Given the description of an element on the screen output the (x, y) to click on. 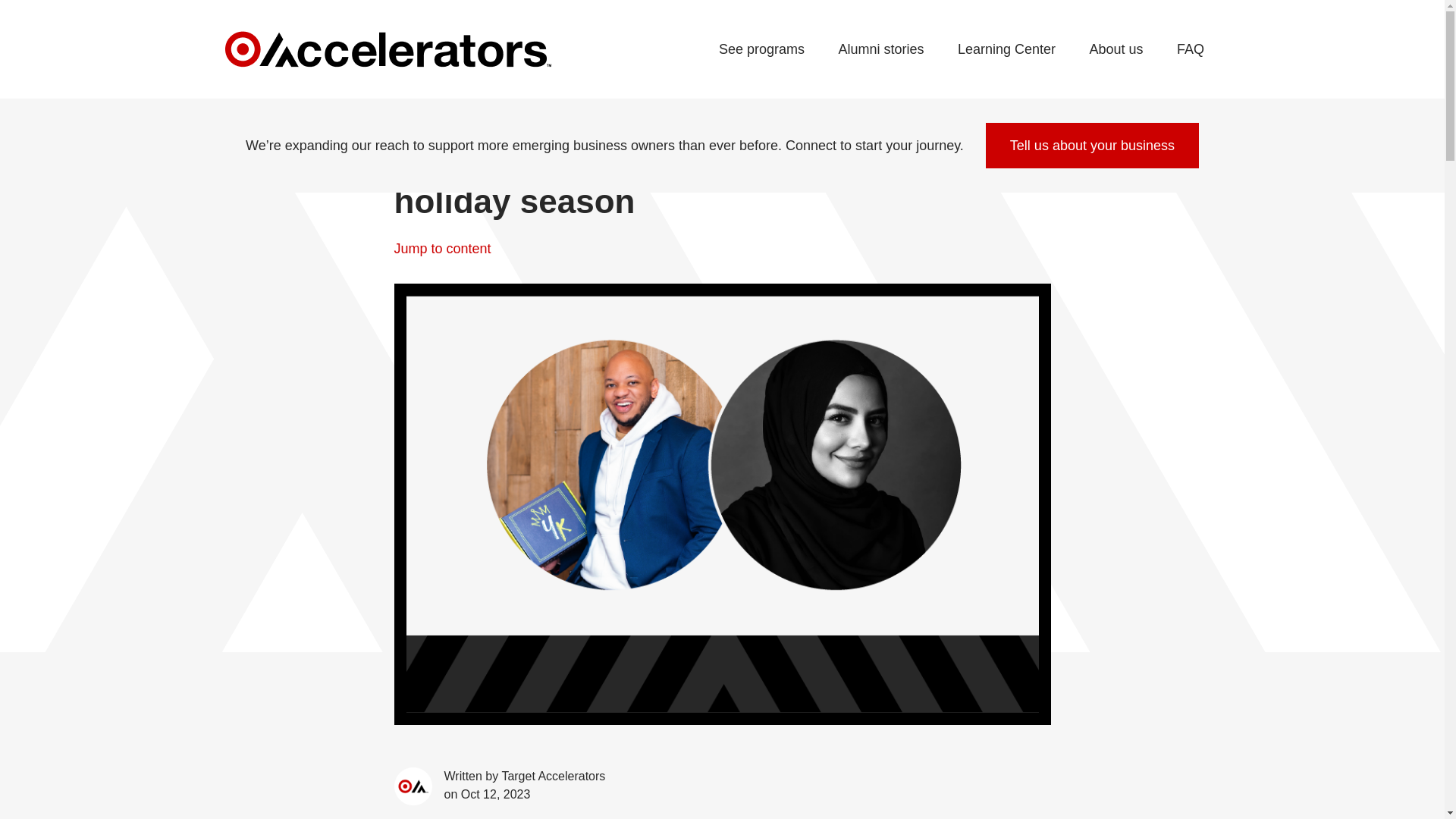
Alumni stories (880, 49)
About us (1115, 49)
See programs (761, 49)
Tell us about your business (1091, 145)
Learning Center (1006, 49)
Jump to content (722, 251)
Target Accelerators (388, 49)
